Given the description of an element on the screen output the (x, y) to click on. 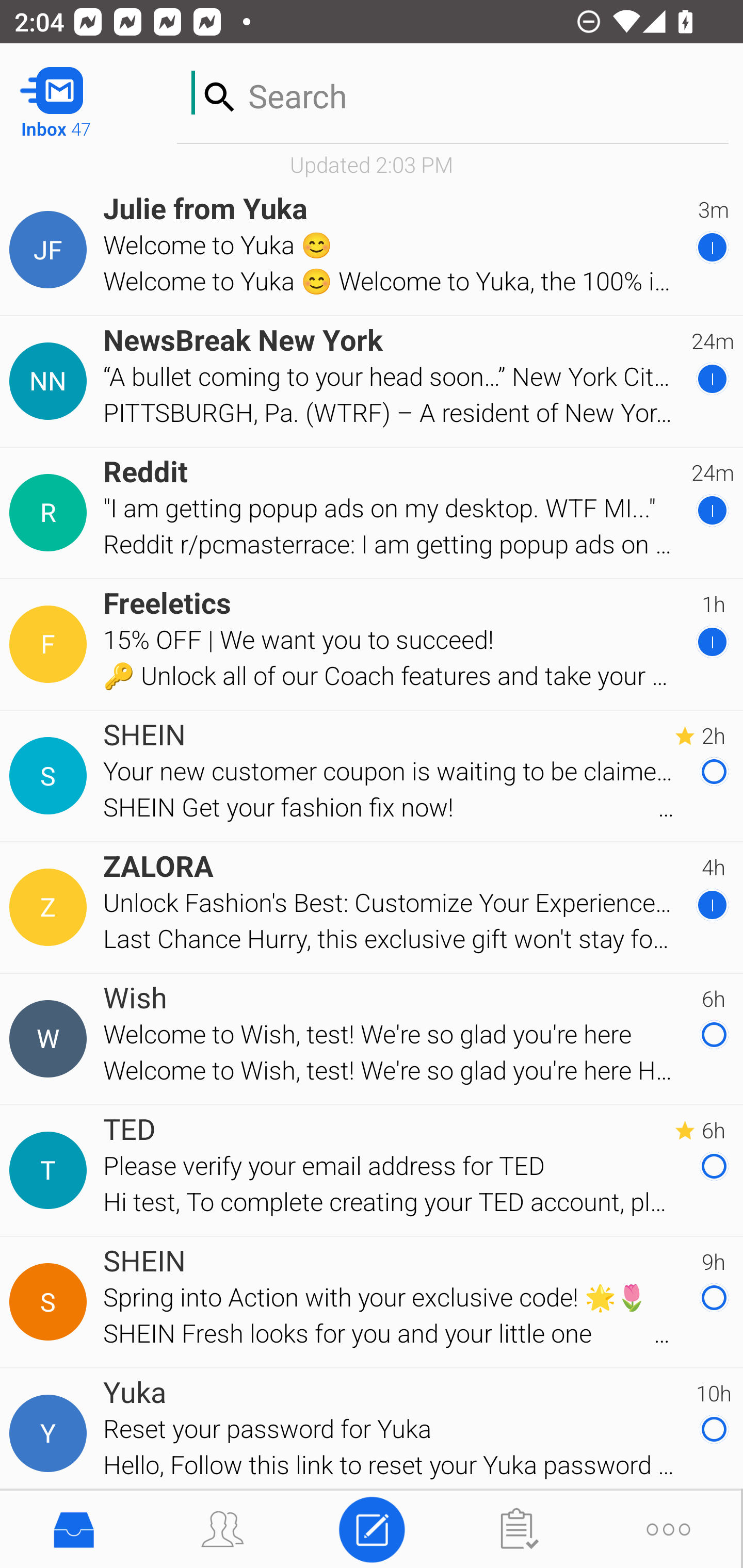
Navigate up (81, 93)
   Search (452, 92)
Contact Details (50, 250)
Contact Details (50, 381)
Contact Details (50, 513)
Contact Details (50, 644)
Contact Details (50, 776)
Contact Details (50, 907)
Contact Details (50, 1038)
Contact Details (50, 1170)
Contact Details (50, 1302)
Contact Details (50, 1433)
Compose (371, 1528)
